Given the description of an element on the screen output the (x, y) to click on. 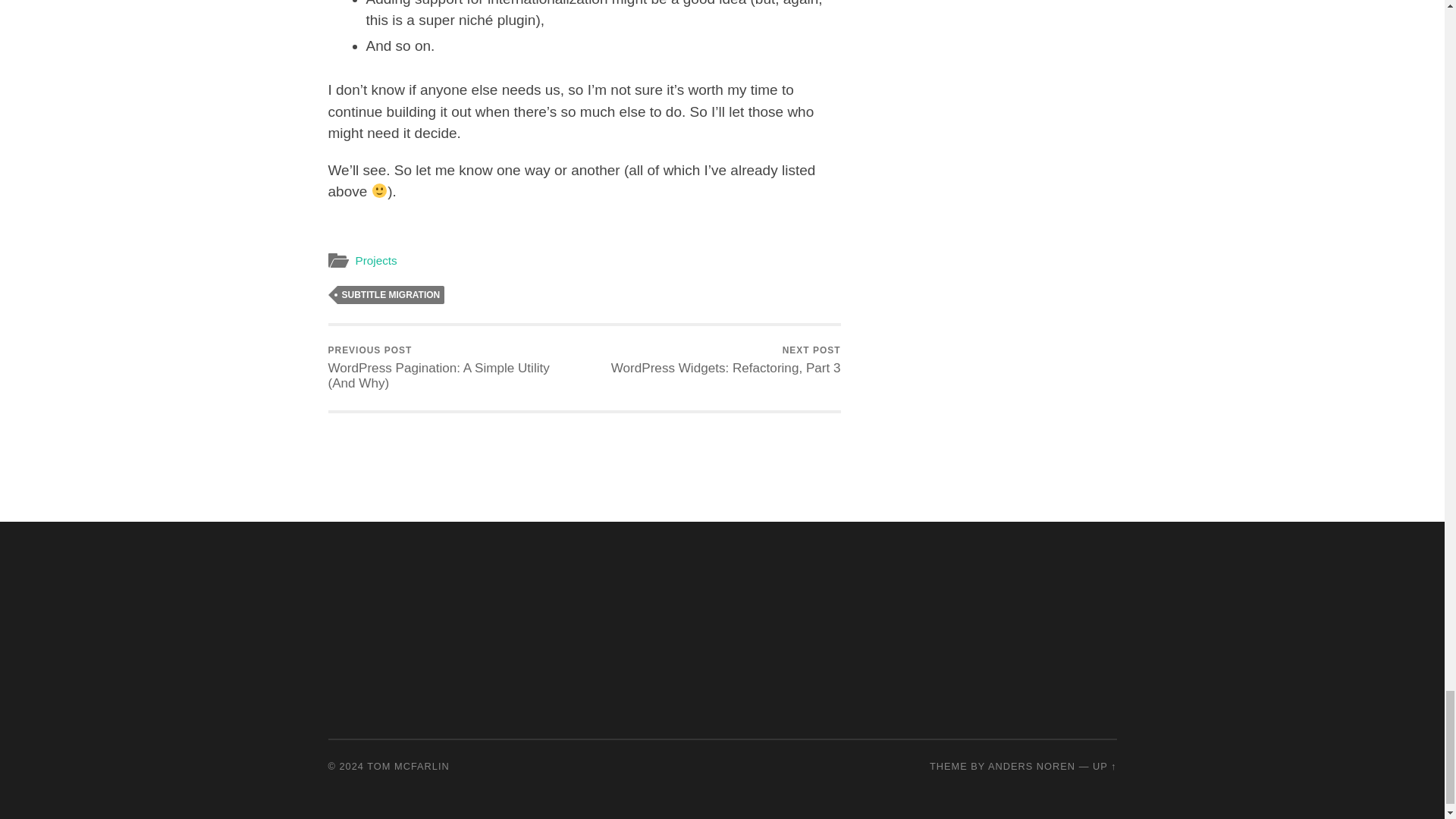
SUBTITLE MIGRATION (390, 294)
Projects (375, 259)
To the top (1104, 766)
